Given the description of an element on the screen output the (x, y) to click on. 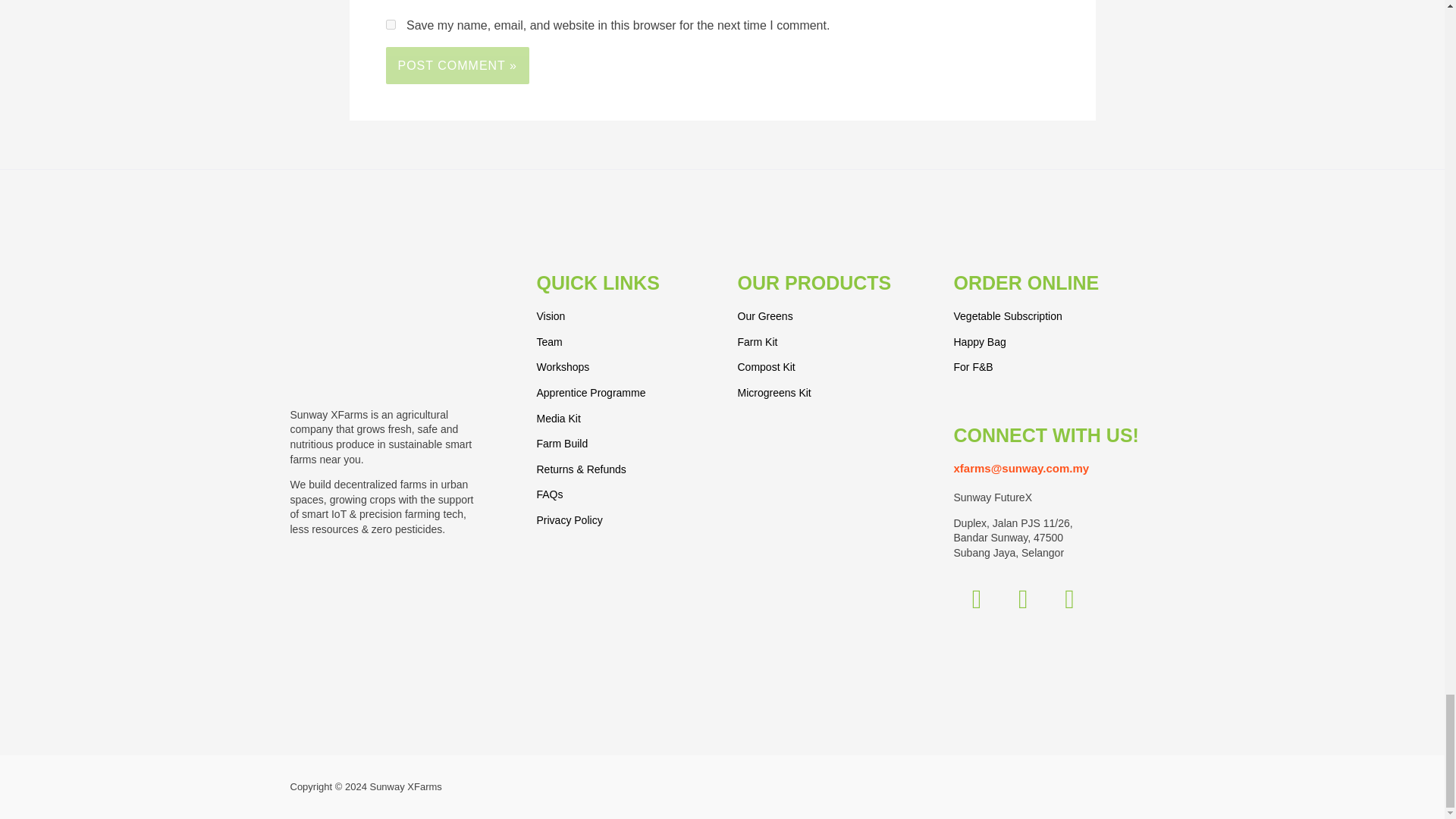
yes (389, 24)
